Given the description of an element on the screen output the (x, y) to click on. 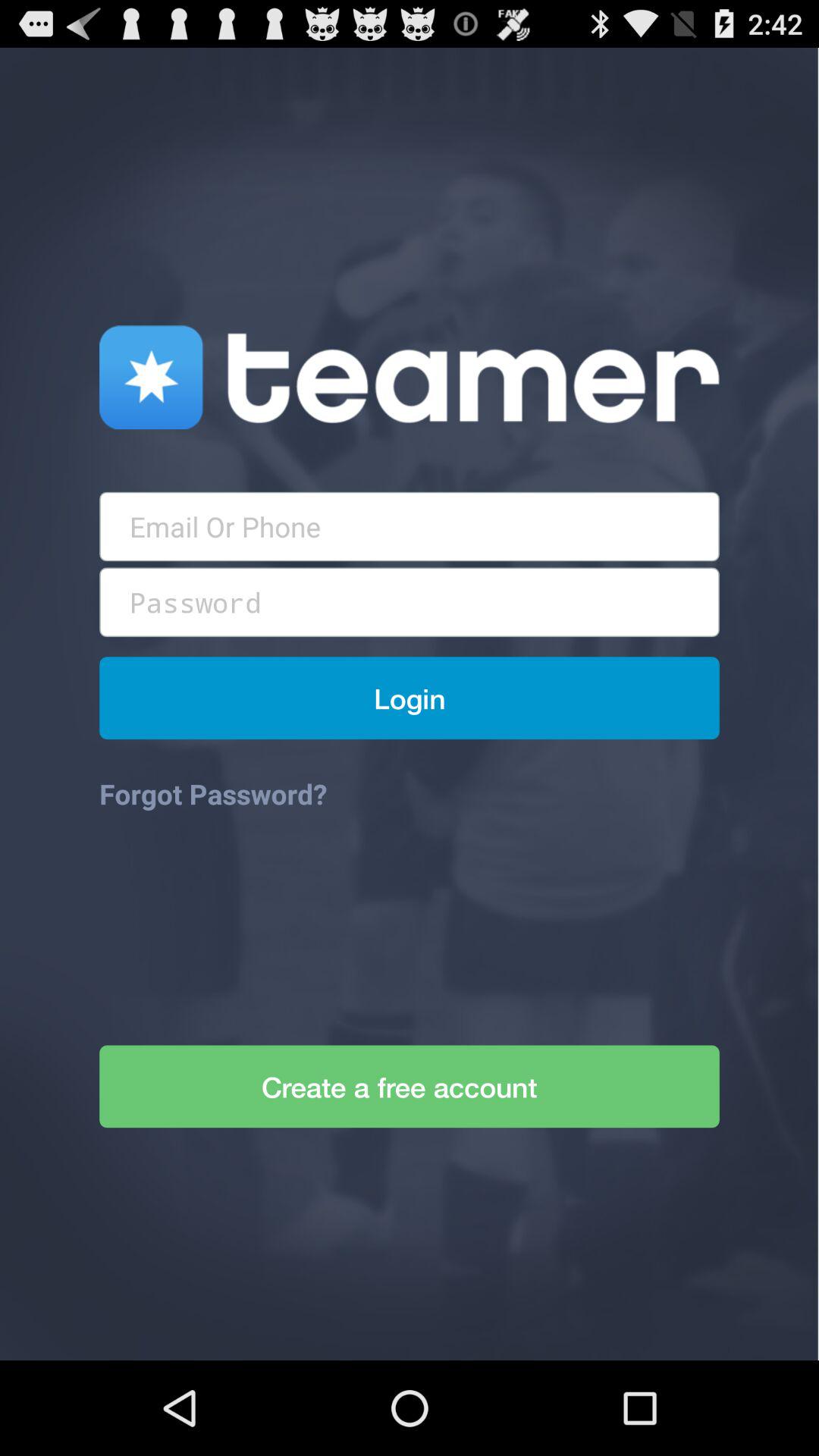
text box for password (409, 602)
